Given the description of an element on the screen output the (x, y) to click on. 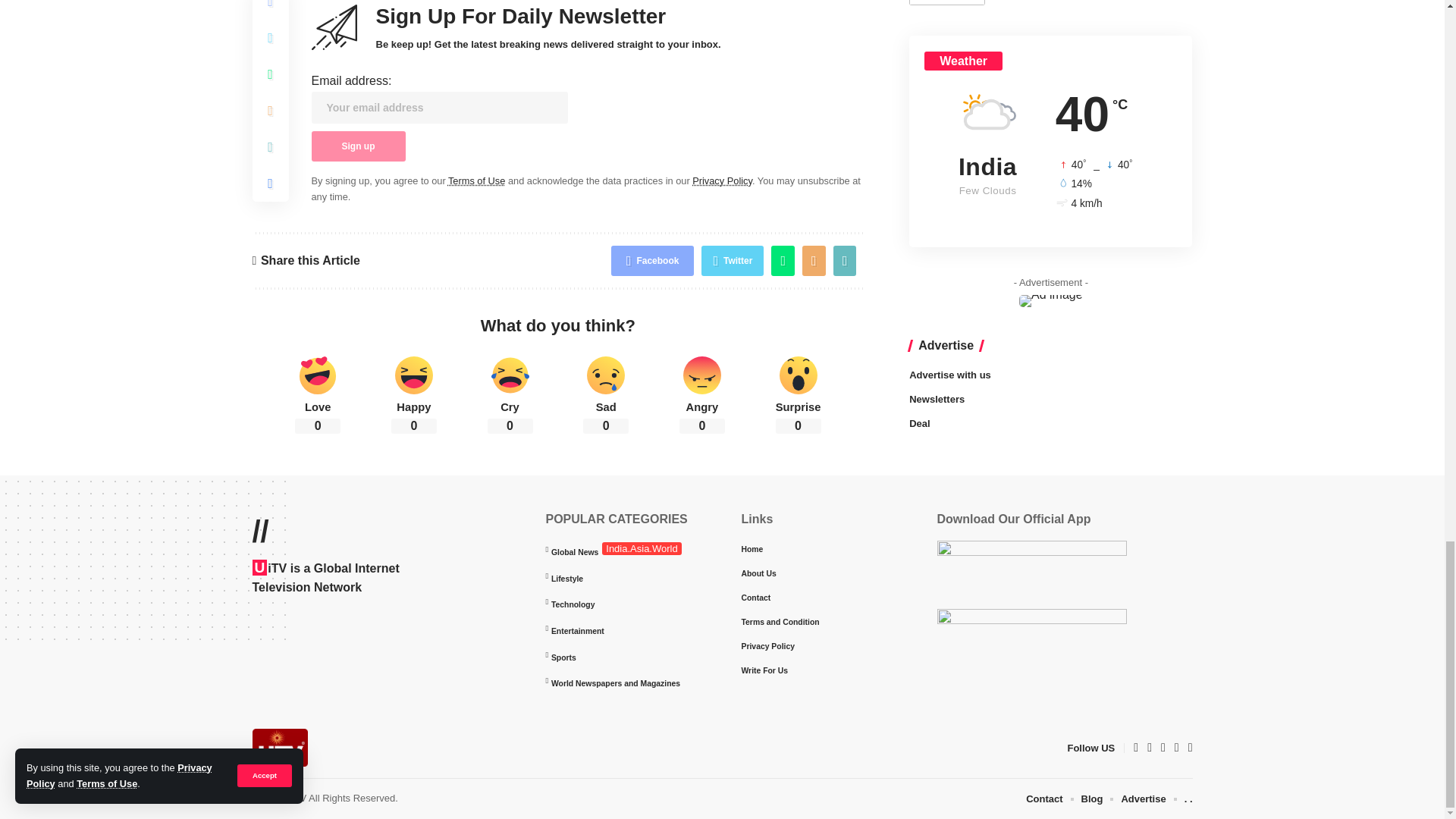
Sign up (357, 146)
